Given the description of an element on the screen output the (x, y) to click on. 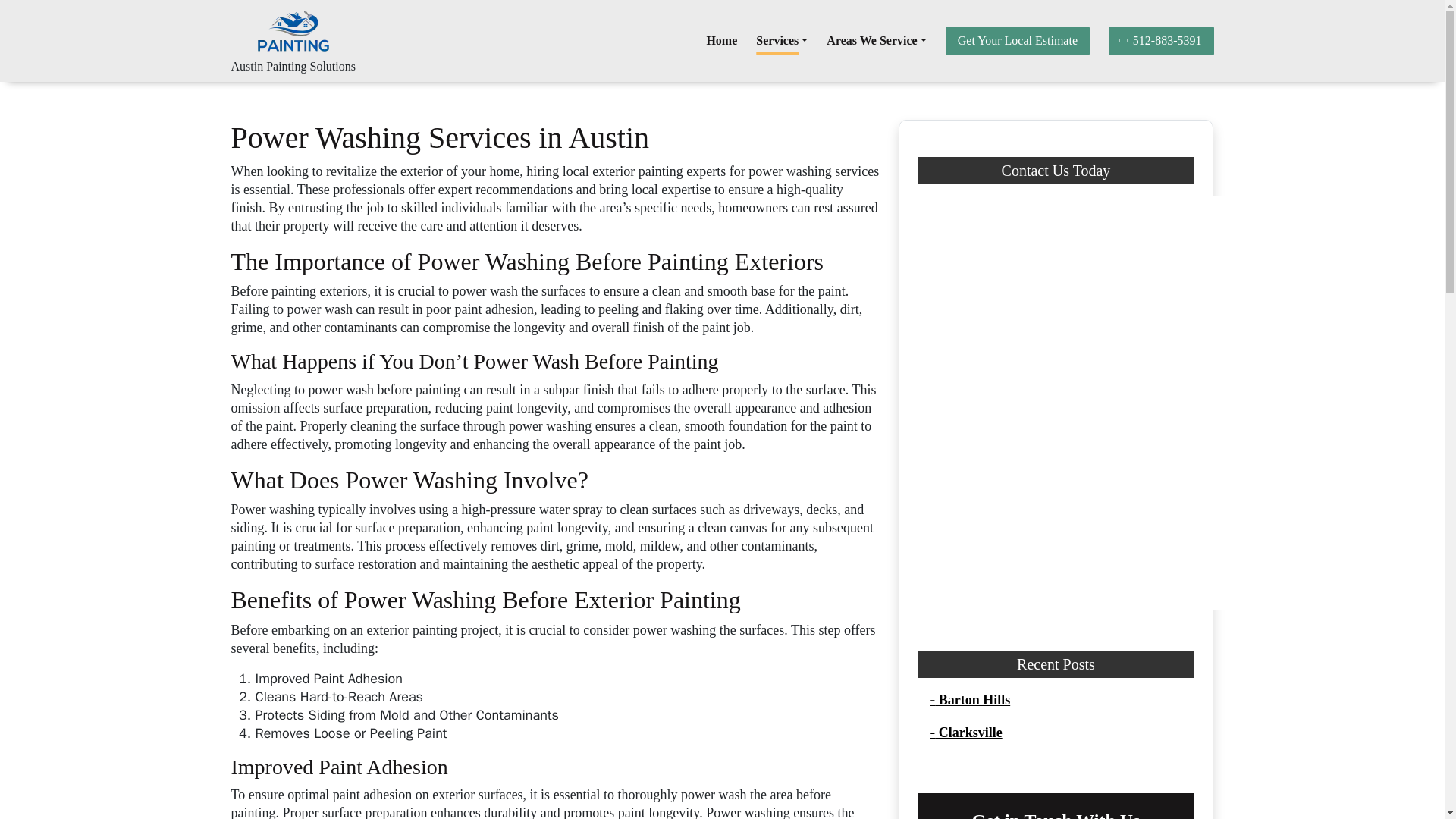
Areas We Service (876, 40)
Services (781, 40)
- Clarksville (965, 732)
- Barton Hills (970, 699)
Services (781, 40)
Austin Painting Solutions (292, 65)
Home (721, 40)
Get Your Local Estimate (1016, 40)
Home (721, 40)
512-883-5391 (1161, 40)
Areas We Service (876, 40)
